Given the description of an element on the screen output the (x, y) to click on. 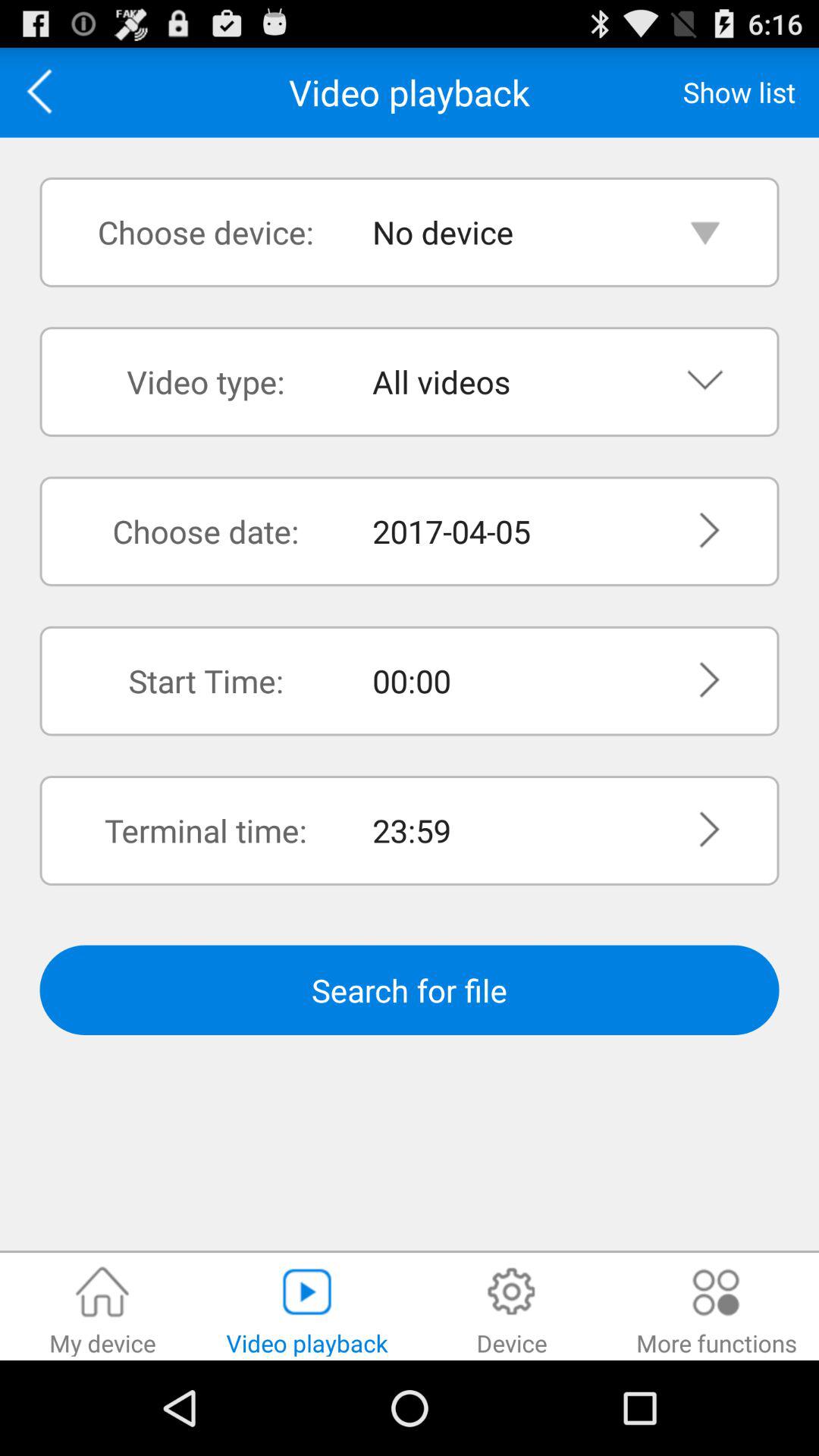
turn on show list item (739, 92)
